Given the description of an element on the screen output the (x, y) to click on. 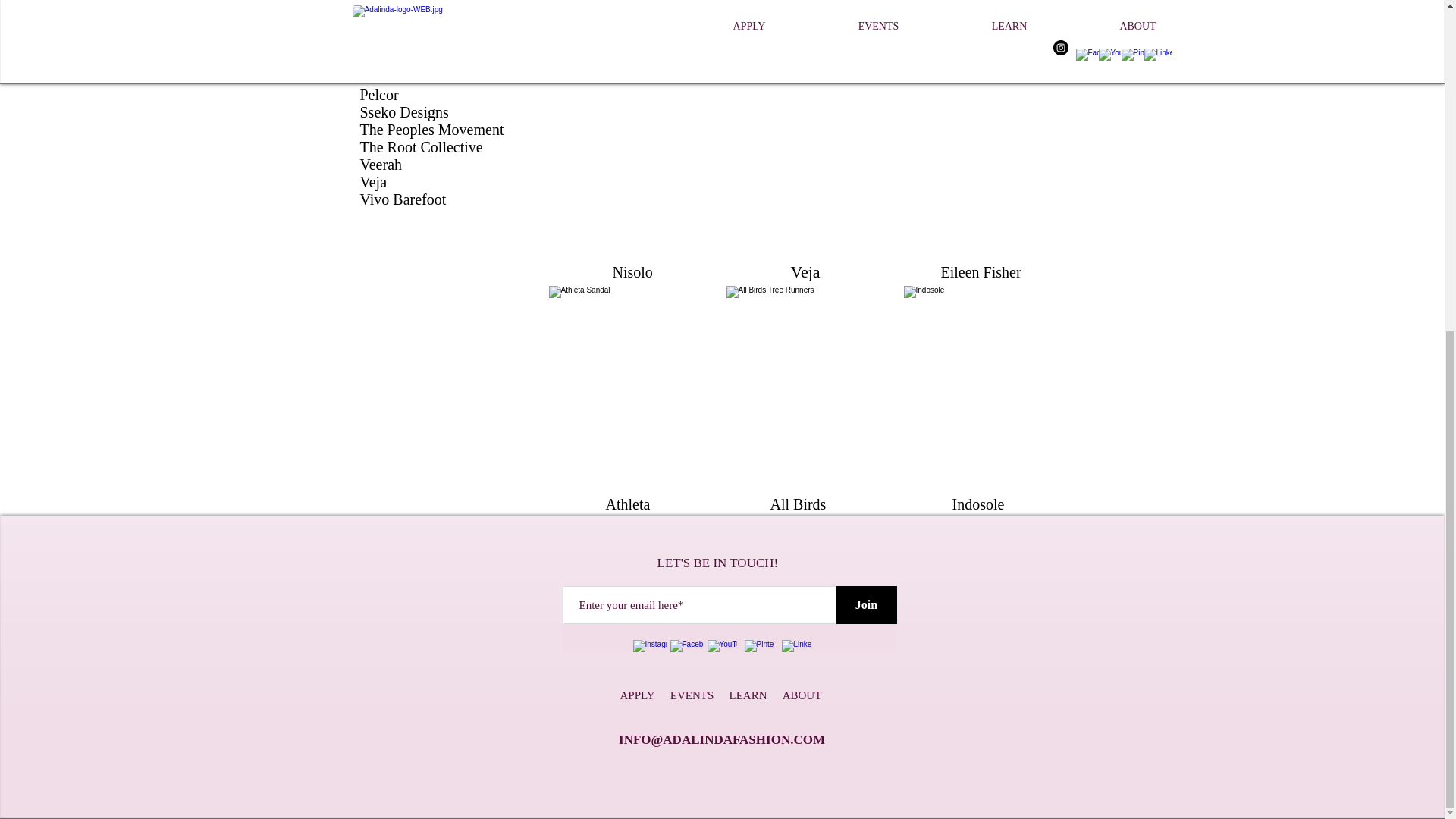
Sseko Designs (403, 112)
Nisolo (378, 59)
The Root Collective (420, 146)
Veerah (380, 164)
Oliberte (384, 76)
Nicora (379, 42)
Pelcor (378, 94)
The Peoples Movement (431, 129)
Mamahuhu (393, 7)
